Given the description of an element on the screen output the (x, y) to click on. 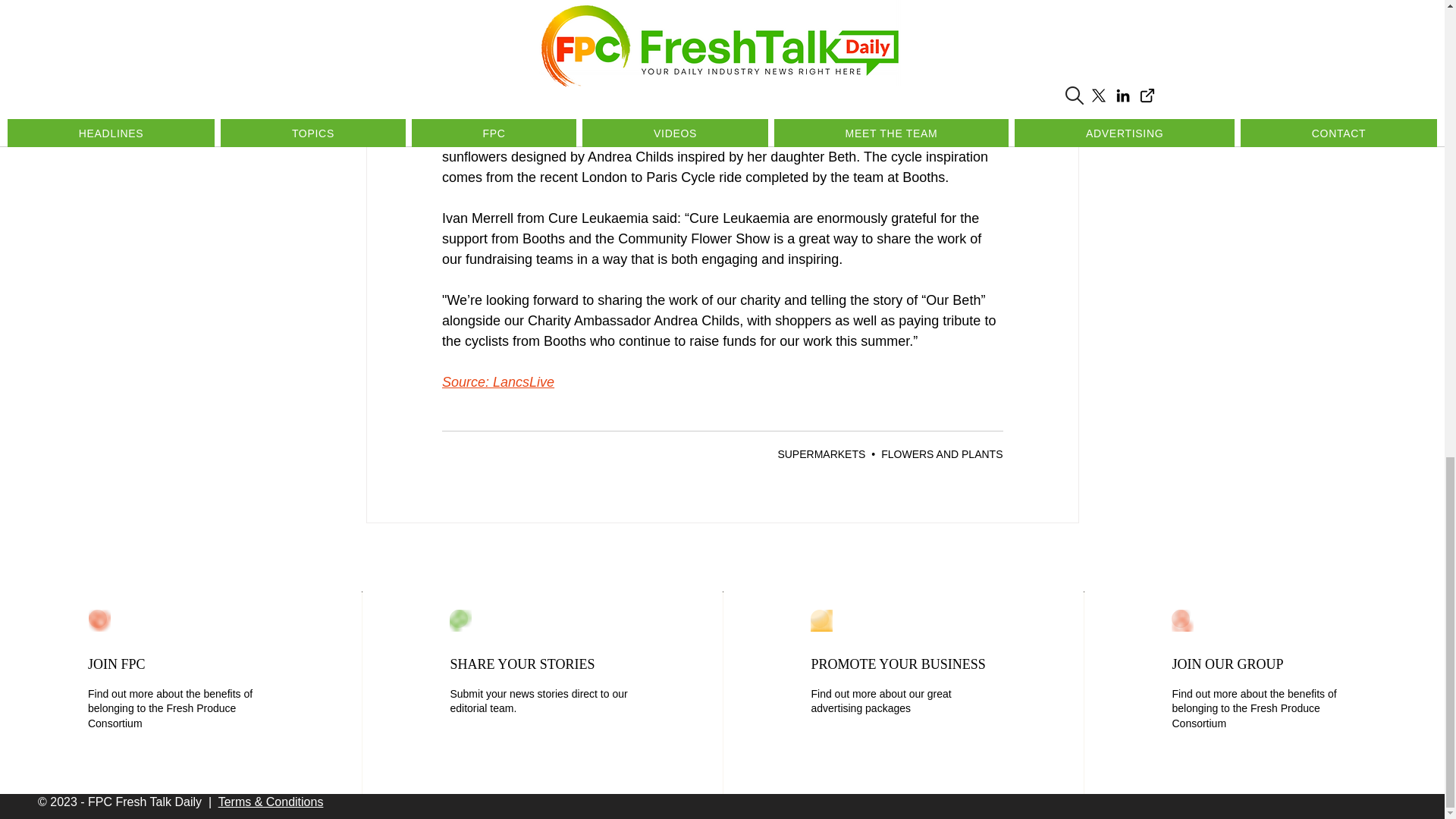
partnership.png (460, 620)
JOIN FPC (116, 663)
PROMOTE YOUR BUSINESS (897, 663)
Find out more about our great advertising packages (880, 700)
partnership.png (1182, 620)
partnership.png (821, 620)
Source: LancsLive (497, 381)
partnership.png (99, 620)
SUPERMARKETS (820, 453)
JOIN OUR GROUP (1227, 663)
Submit your news stories direct to our editorial team. (538, 700)
FLOWERS AND PLANTS (941, 453)
SHARE YOUR STORIES (521, 663)
